Given the description of an element on the screen output the (x, y) to click on. 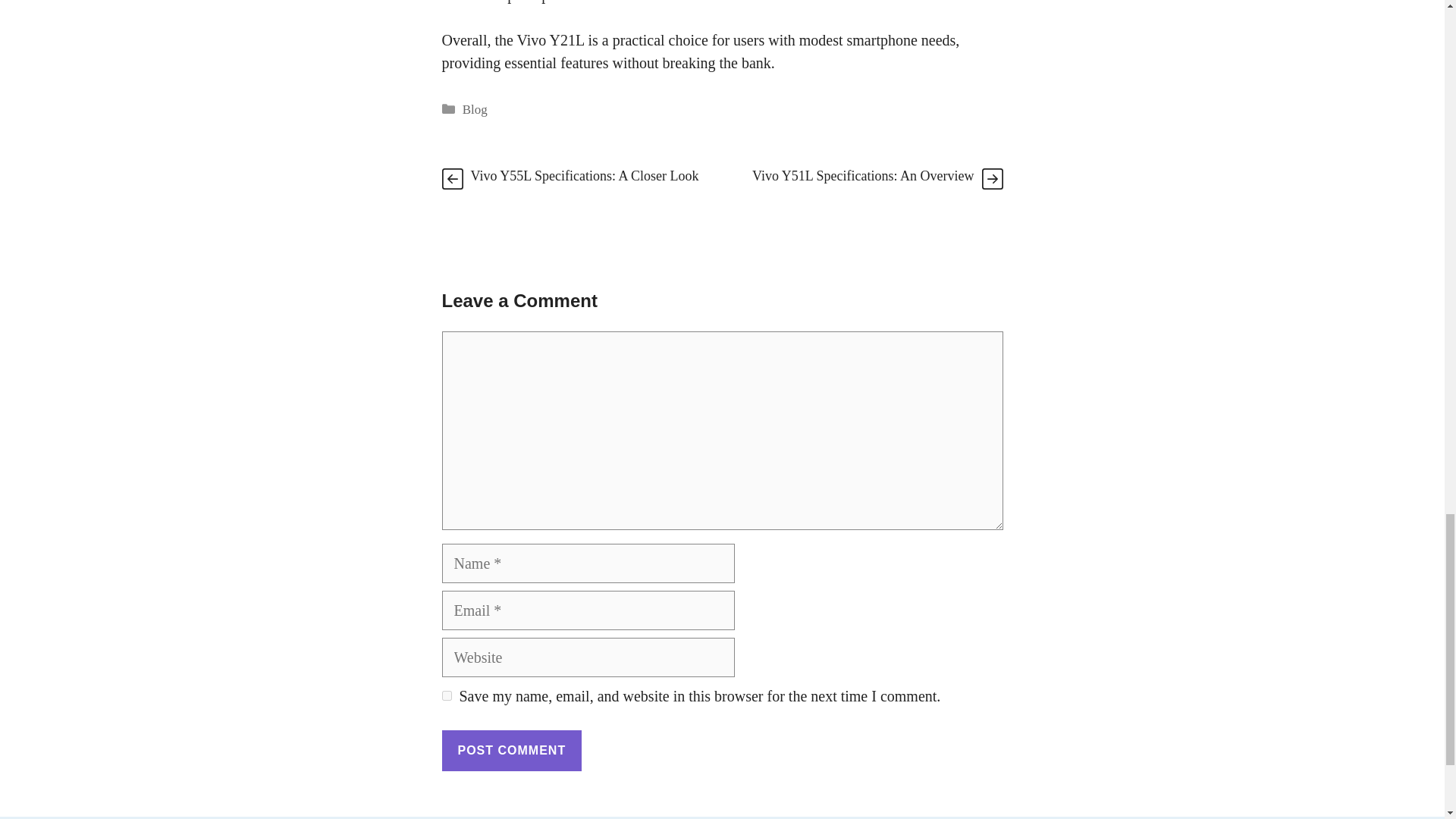
Vivo Y55L Specifications: A Closer Look (584, 175)
Blog (475, 108)
Post Comment (510, 750)
Post Comment (510, 750)
yes (446, 696)
Vivo Y51L Specifications: An Overview (863, 175)
